Given the description of an element on the screen output the (x, y) to click on. 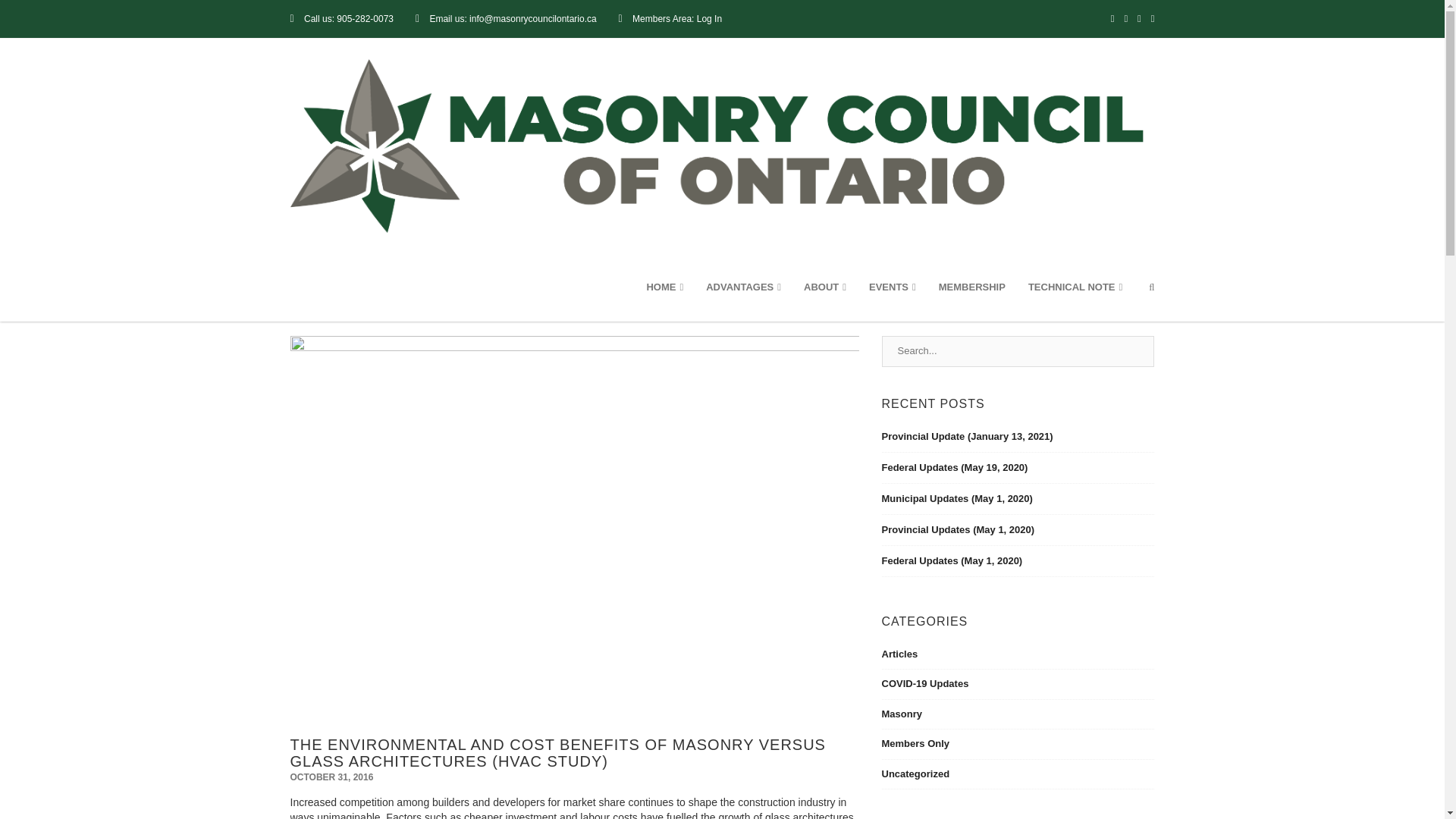
Log In (709, 18)
Advantages (743, 287)
ADVANTAGES (743, 287)
ABOUT (824, 287)
EVENTS (892, 287)
905-282-0073 (364, 18)
